Given the description of an element on the screen output the (x, y) to click on. 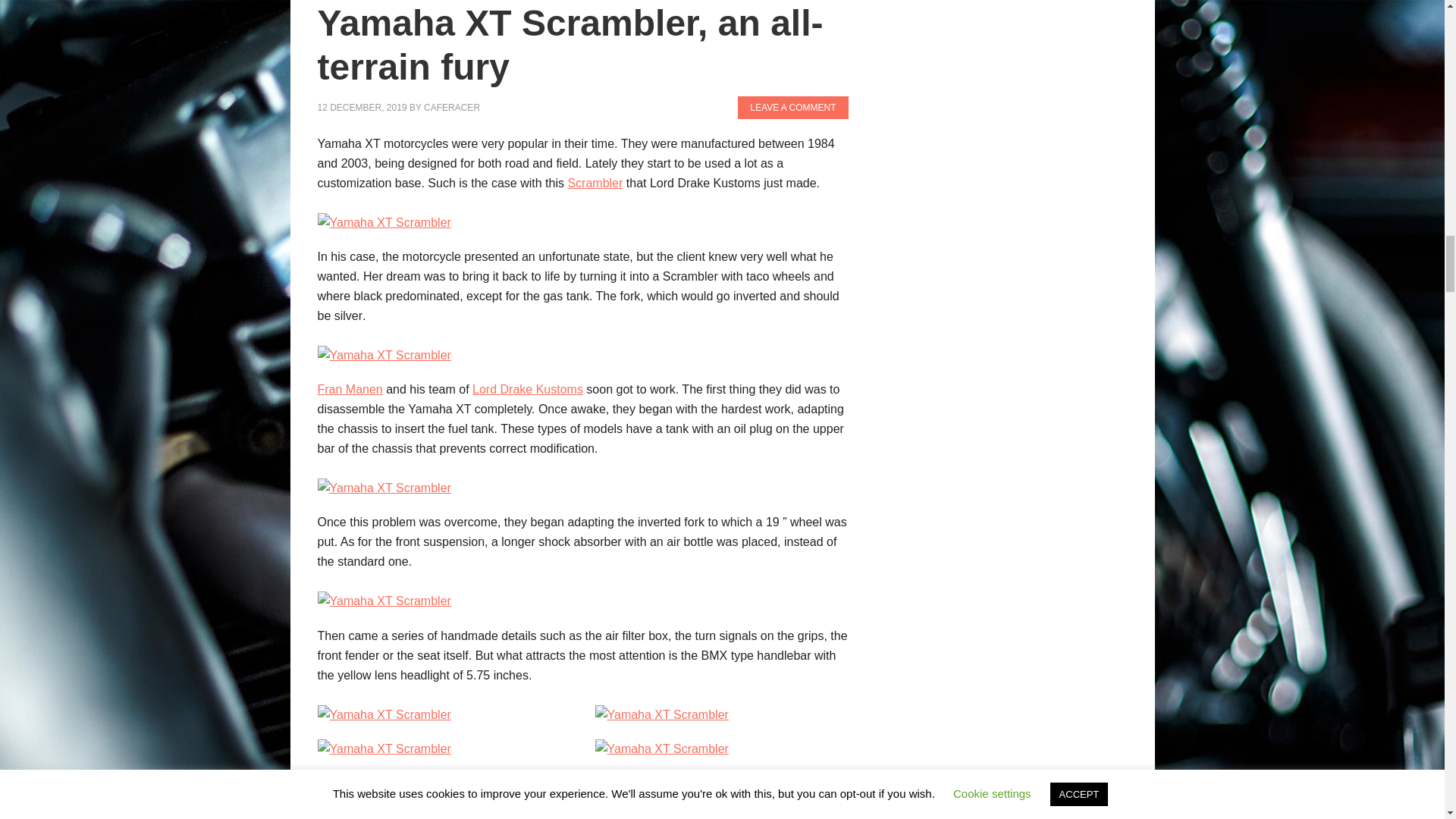
Fran Manen (349, 389)
Yamaha XT Scrambler, an all-terrain fury (569, 44)
CAFERACER (451, 107)
LEAVE A COMMENT (792, 107)
they were sent to paint the pieces (586, 803)
Scrambler (595, 182)
Lord Drake Kustoms (527, 389)
